Given the description of an element on the screen output the (x, y) to click on. 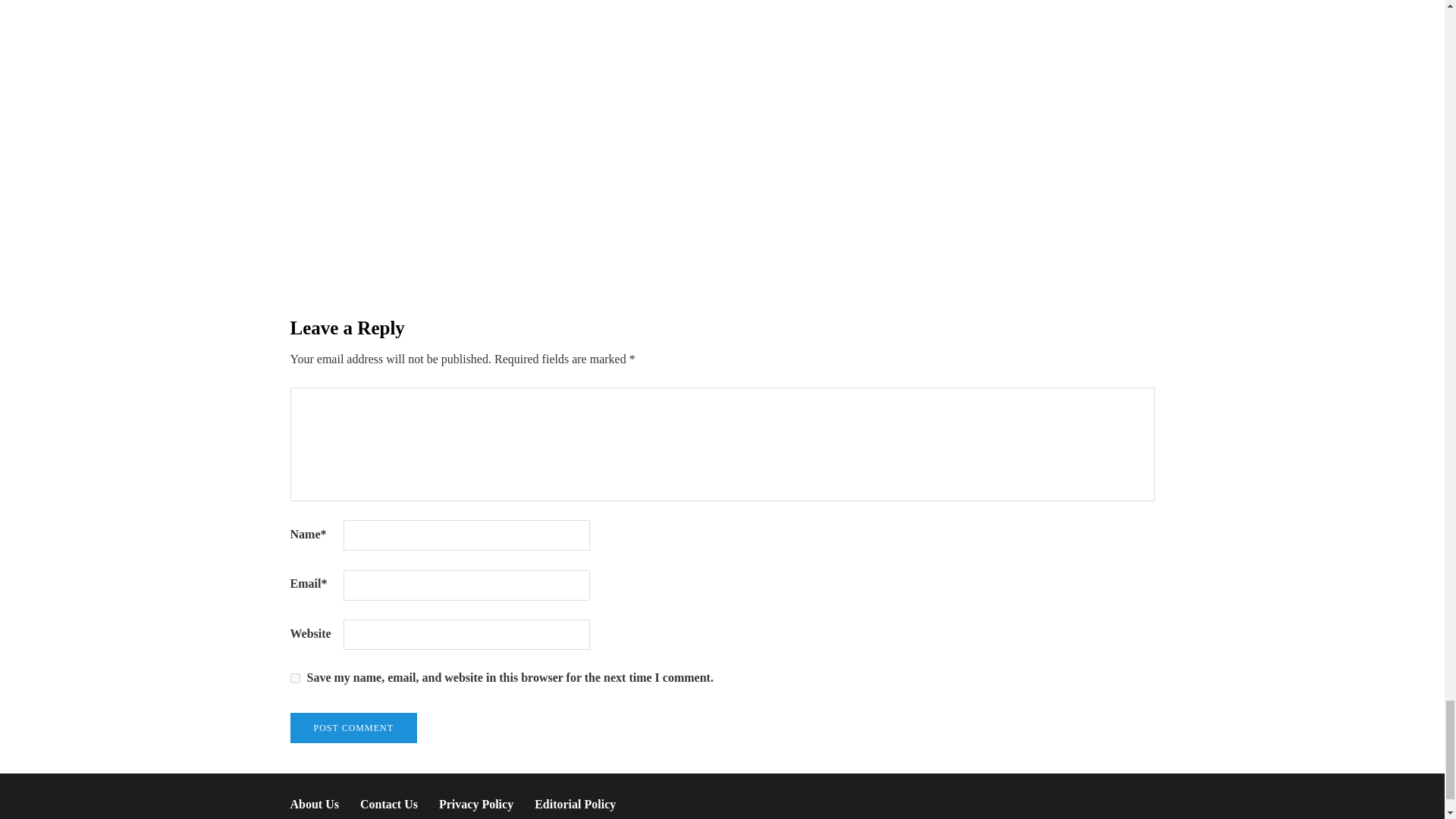
yes (294, 678)
Post comment (352, 727)
